Given the description of an element on the screen output the (x, y) to click on. 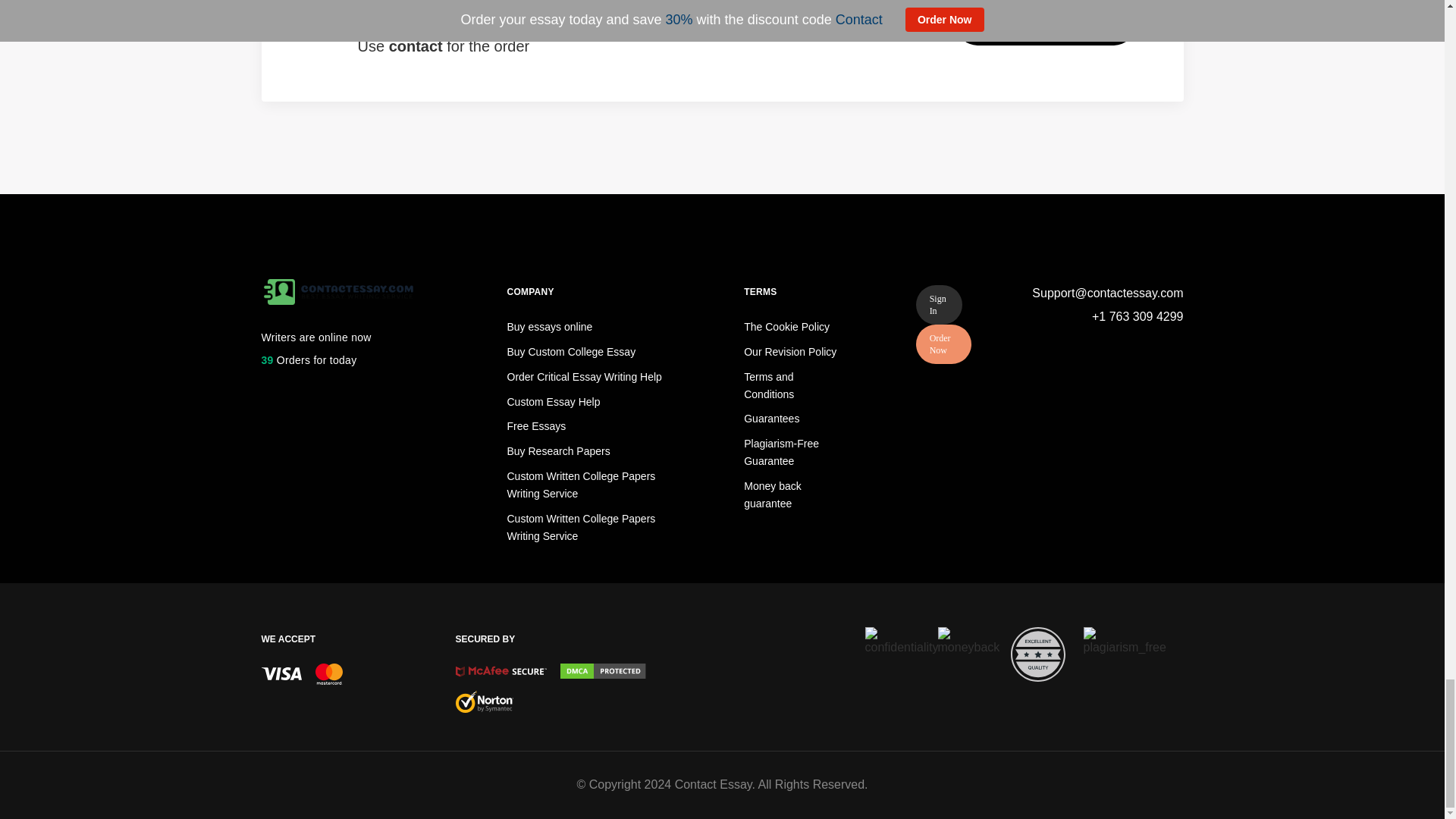
Custom Essay Help (552, 401)
Order Critical Essay Writing Help (583, 377)
Buy Custom College Essay (570, 351)
Our Revision Policy (789, 351)
Plagiarism-Free Guarantee (781, 451)
Buy Research Papers (558, 451)
Write my paper (1045, 24)
Terms and Conditions (768, 385)
The Cookie Policy (786, 326)
Order Now (943, 343)
